Given the description of an element on the screen output the (x, y) to click on. 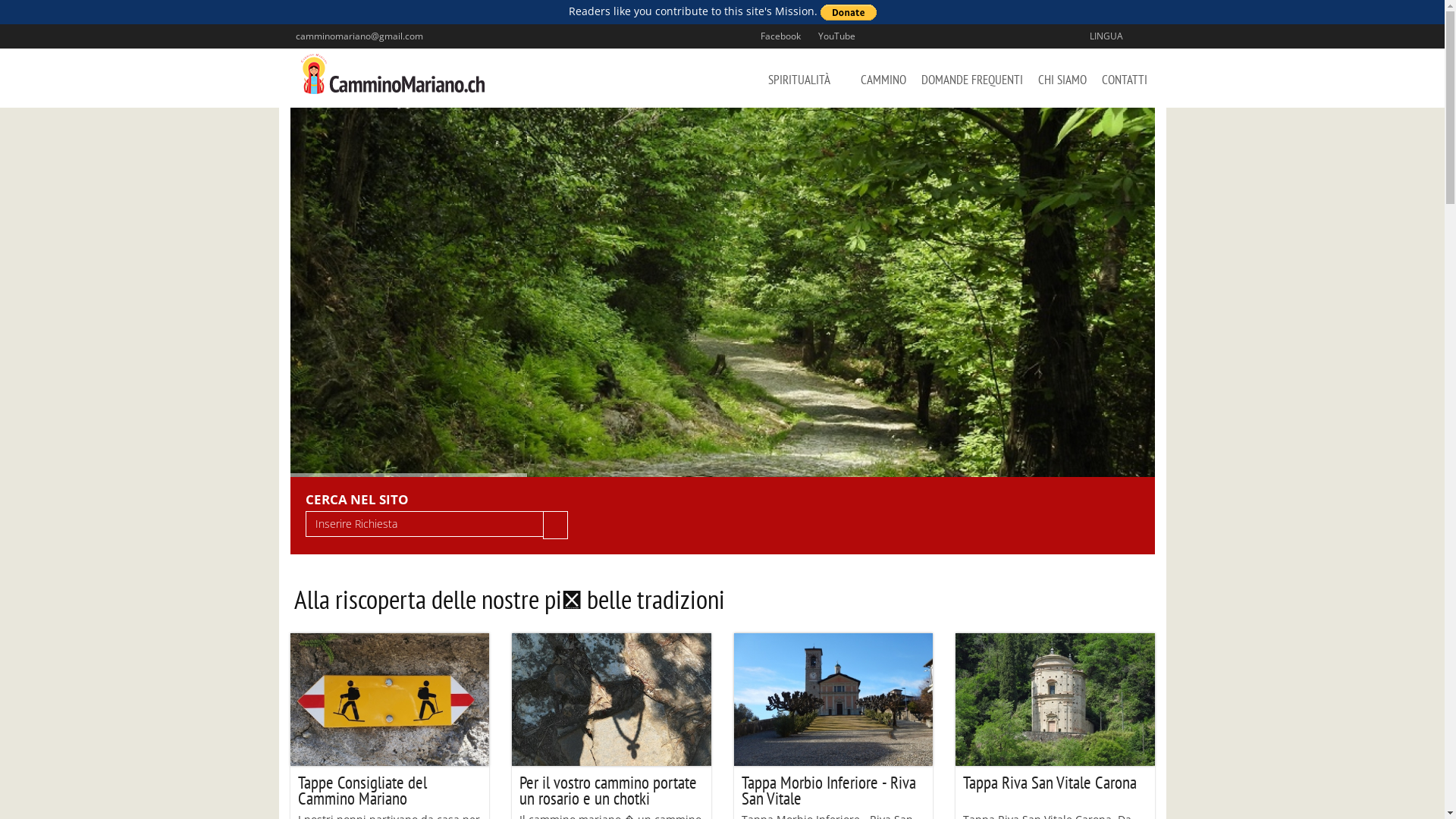
Per il vostro cammino portate un rosario e un chotki Element type: text (611, 791)
CONTATTI Element type: text (1123, 77)
Readers like you contribute to this site's Mission. Element type: text (721, 11)
Tappa Morbio Inferiore - Riva San Vitale Element type: text (833, 791)
CHI SIAMO Element type: text (1061, 77)
CAMMINO Element type: text (882, 77)
camminomariano@gmail.com Element type: text (355, 35)
LINGUA Element type: text (1108, 35)
YouTube Element type: text (833, 35)
Tappa Riva San Vitale Carona Element type: text (1055, 791)
DOMANDE FREQUENTI Element type: text (971, 77)
Tappe Consigliate del Cammino Mariano Element type: text (389, 791)
Facebook Element type: text (777, 35)
